Given the description of an element on the screen output the (x, y) to click on. 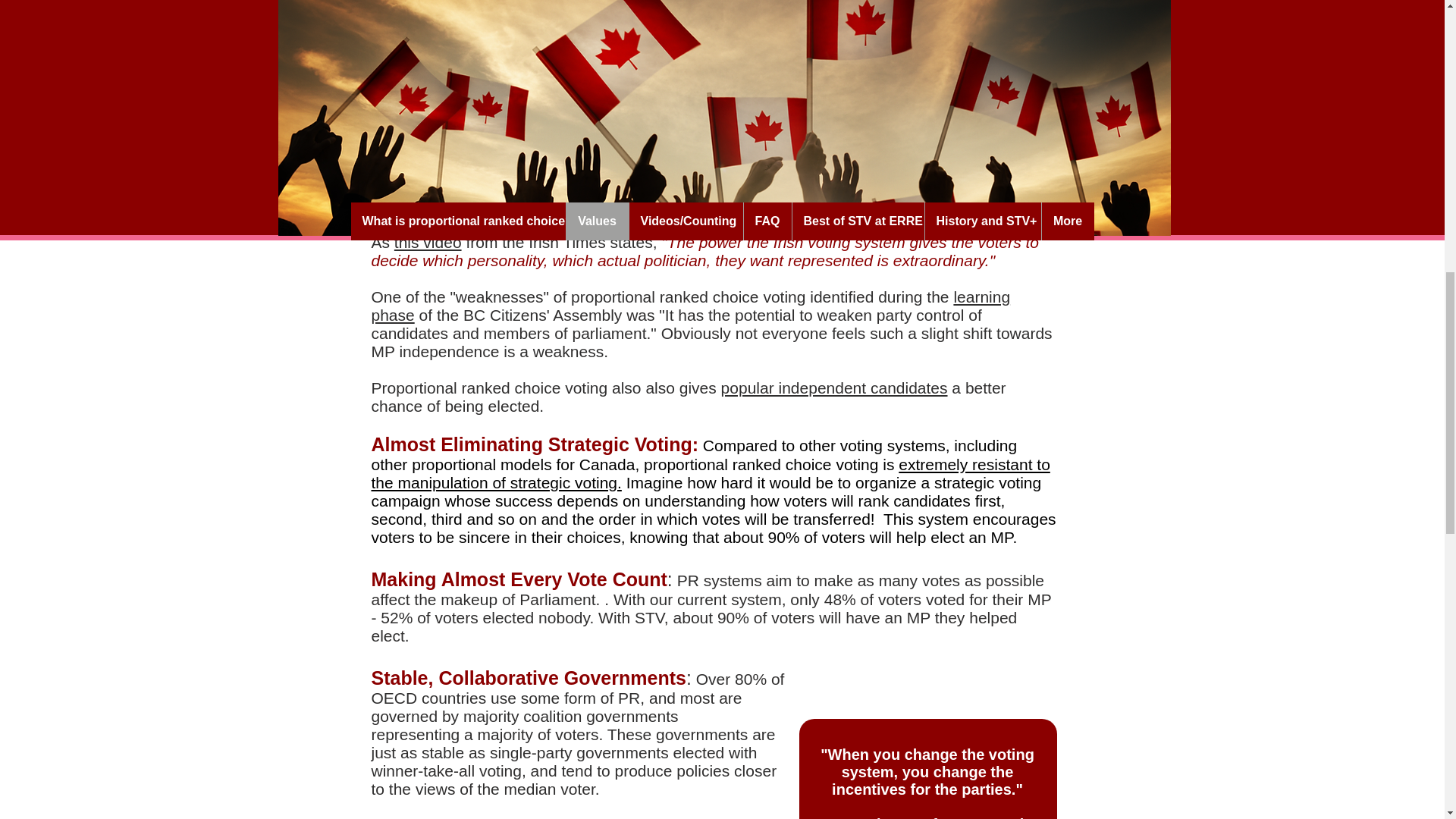
extremely resistant to the manipulation of strategic voting. (710, 473)
popular independent candidates (833, 387)
this video (427, 241)
report (701, 817)
learning phase (690, 305)
BC Citizens' Assembly (598, 165)
